Given the description of an element on the screen output the (x, y) to click on. 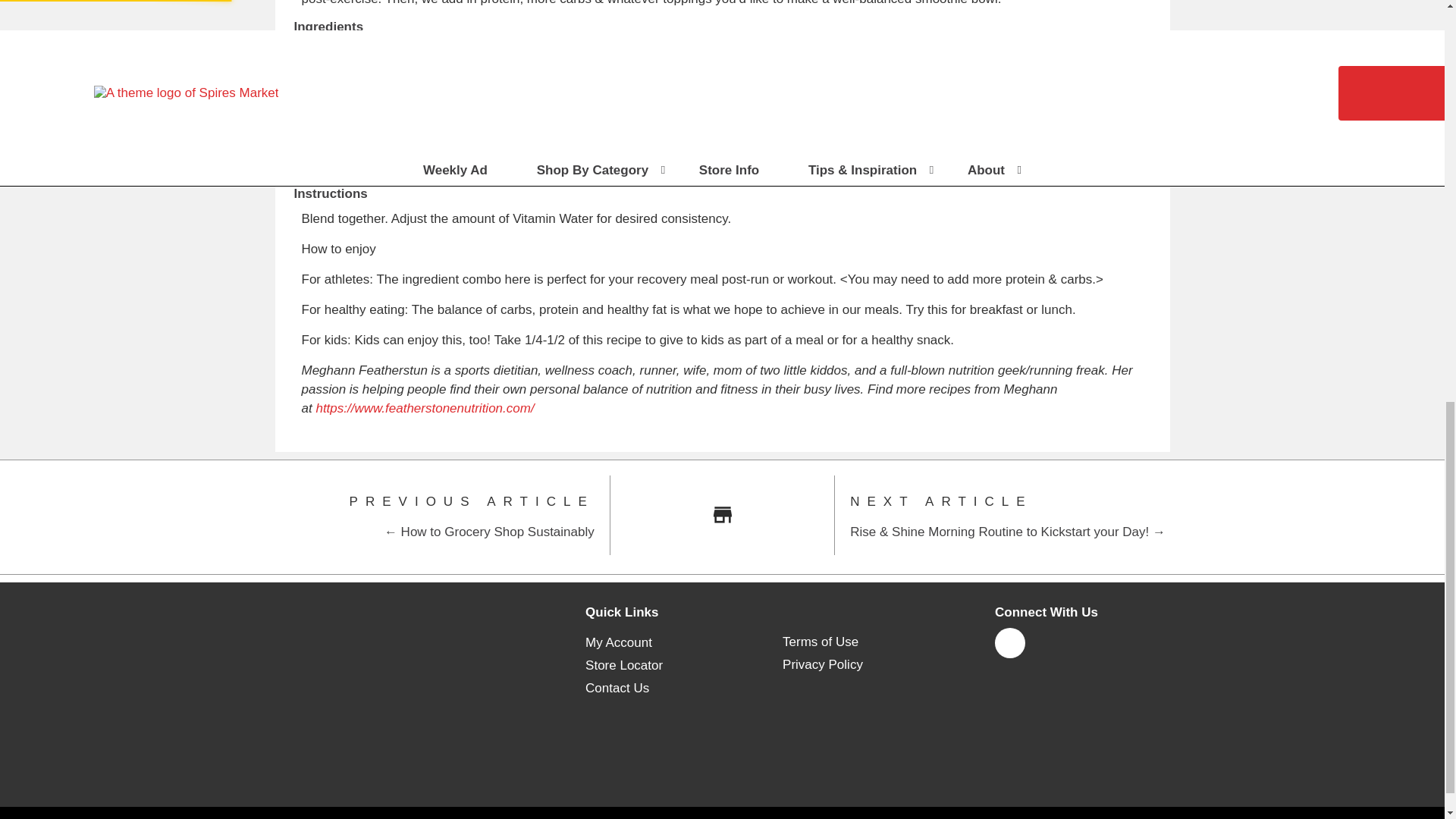
facebook (1009, 649)
Store Locator (623, 665)
My Account (618, 642)
Contact Us (617, 688)
Terms of Use (821, 642)
Privacy Policy (823, 664)
